Given the description of an element on the screen output the (x, y) to click on. 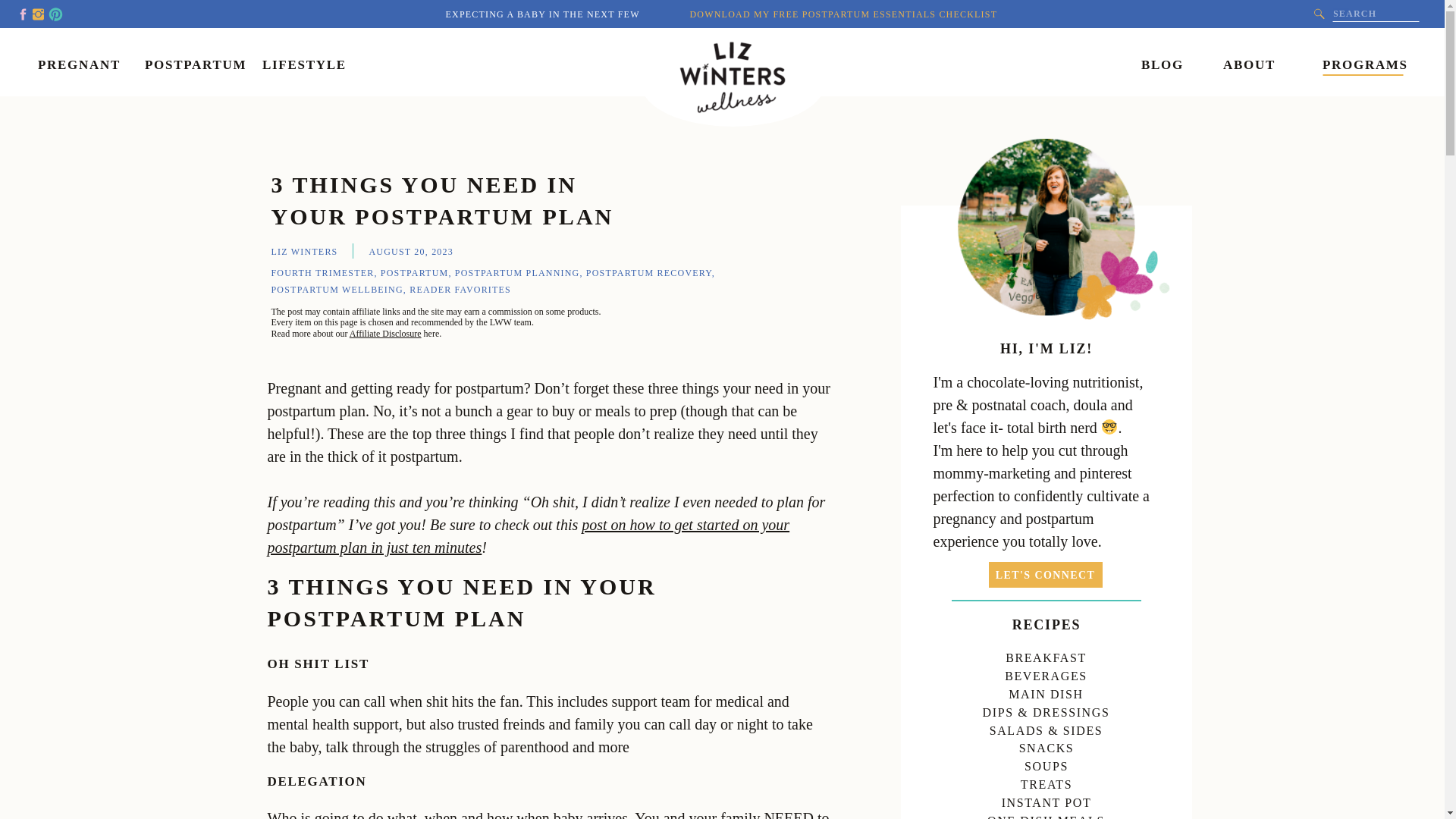
BLOG (1159, 62)
BEVERAGES (1046, 672)
ONE DISH MEALS (1045, 814)
MAIN DISH (1046, 690)
PREGNANT (78, 62)
DOWNLOAD MY FREE POSTPARTUM ESSENTIALS CHECKLIST (844, 12)
LIFESTYLE (302, 62)
ABOUT (1247, 62)
TREATS (1045, 780)
INSTANT POT (1045, 799)
LET'S CONNECT (1045, 574)
PROGRAMS (1363, 62)
SOUPS (1045, 762)
SNACKS (1045, 744)
BREAKFAST (1046, 654)
